Given the description of an element on the screen output the (x, y) to click on. 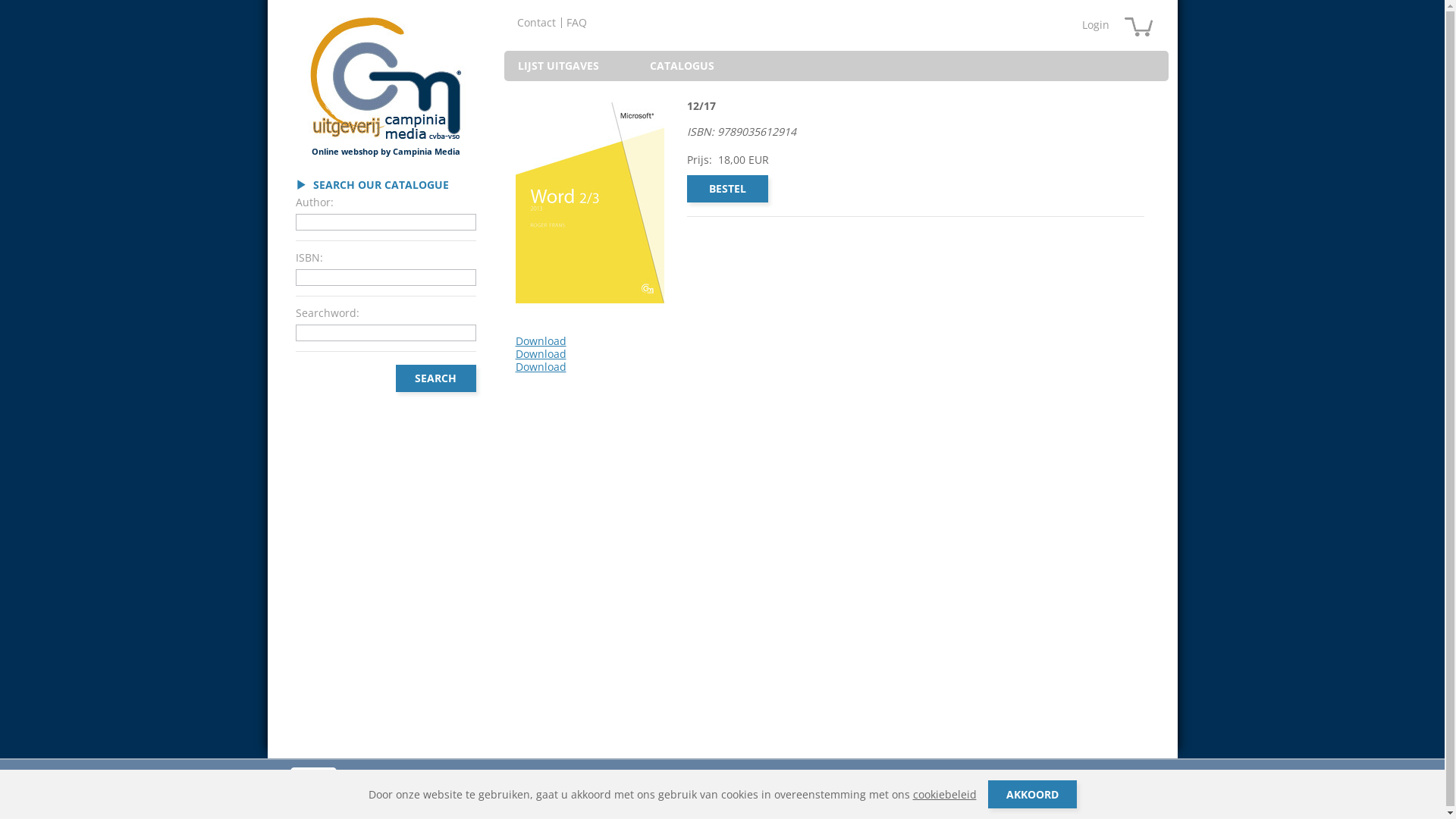
Privacy policy Element type: text (587, 794)
BESTEL Element type: text (727, 188)
Download Element type: text (586, 354)
CATALOGUS Element type: text (681, 65)
Login Element type: text (1095, 24)
Download Element type: text (586, 341)
SEARCH Element type: text (435, 378)
AKKOORD Element type: text (1031, 794)
TERMS AND CONDITIONS Element type: text (432, 794)
FAQ Element type: text (575, 22)
Download Element type: text (586, 366)
Contact Element type: text (535, 22)
Online webshop by Campinia Media Element type: text (385, 86)
SEARCH OUR CATALOGUE Element type: text (371, 184)
info@campiniamedia.be Element type: text (656, 781)
cookiebeleid Element type: text (944, 794)
We use 'cookies' Element type: text (520, 794)
LIJST UITGAVES Element type: text (561, 65)
